Given the description of an element on the screen output the (x, y) to click on. 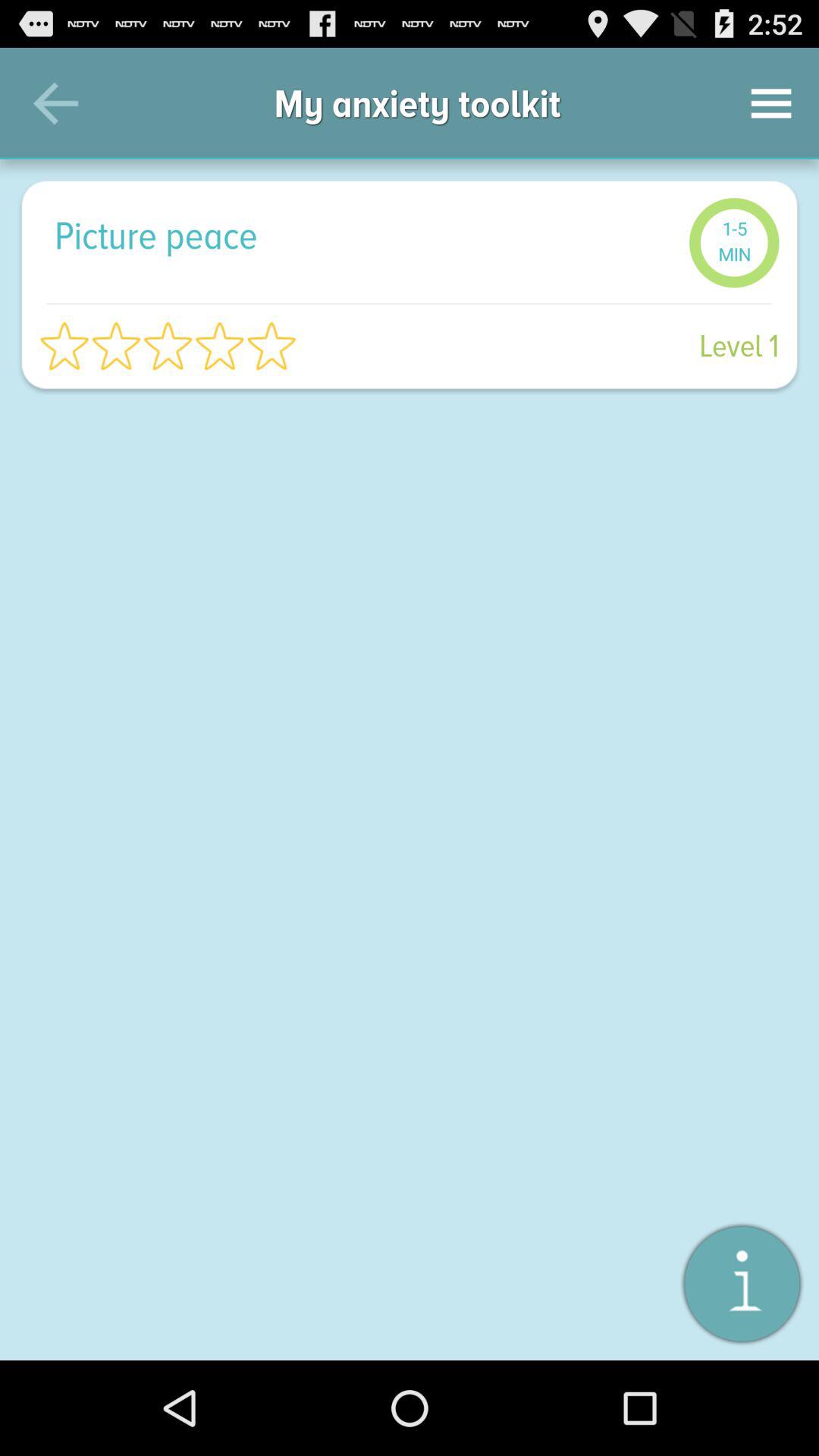
information (742, 1283)
